Given the description of an element on the screen output the (x, y) to click on. 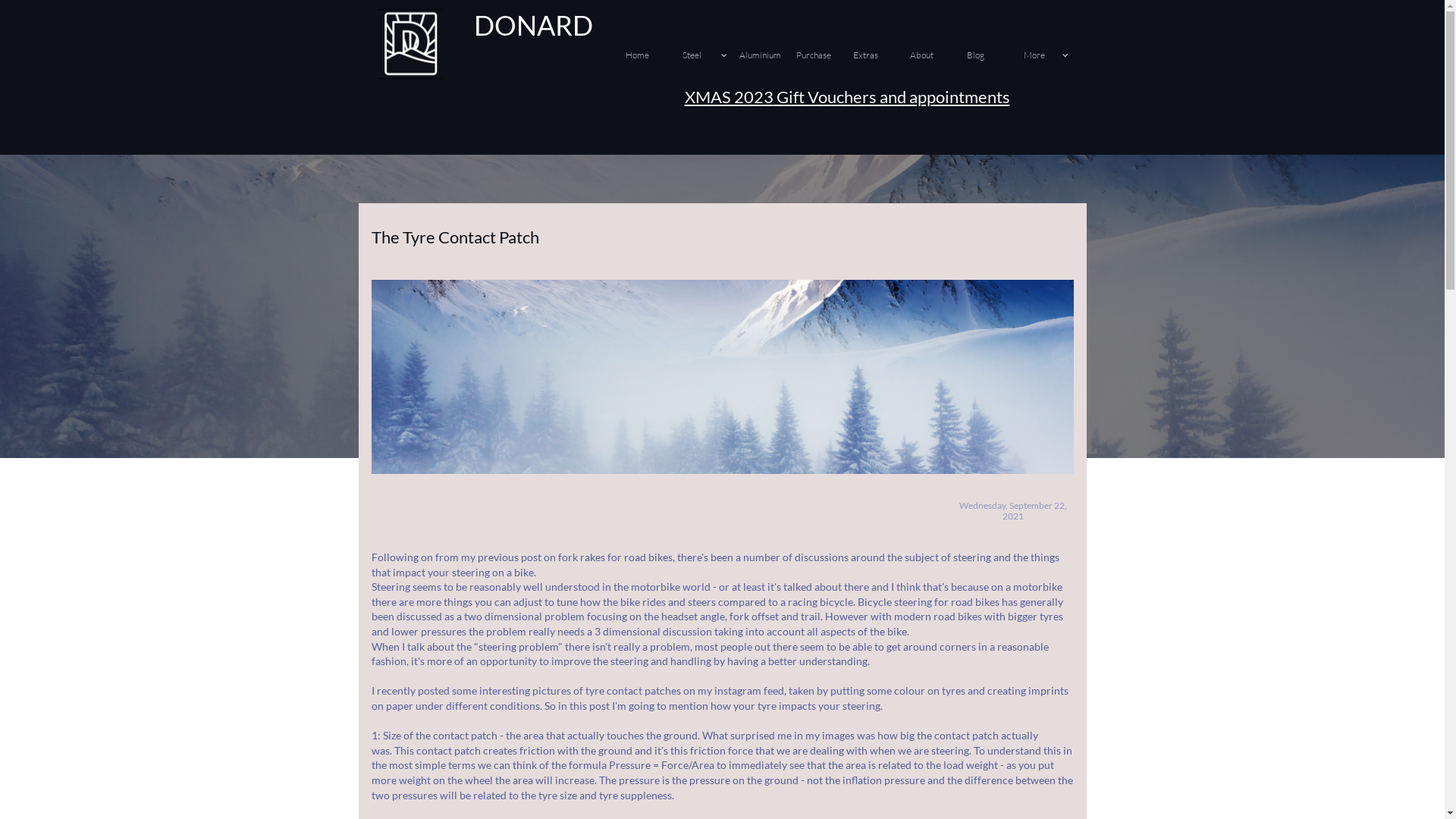
Purchase Element type: text (821, 55)
Blog Element type: text (992, 55)
Aluminium Element type: text (764, 55)
Home Element type: text (651, 55)
About Element type: text (935, 55)
XMAS 2023 Element type: text (728, 96)
Steel Element type: text (708, 55)
Extras Element type: text (878, 55)
